Given the description of an element on the screen output the (x, y) to click on. 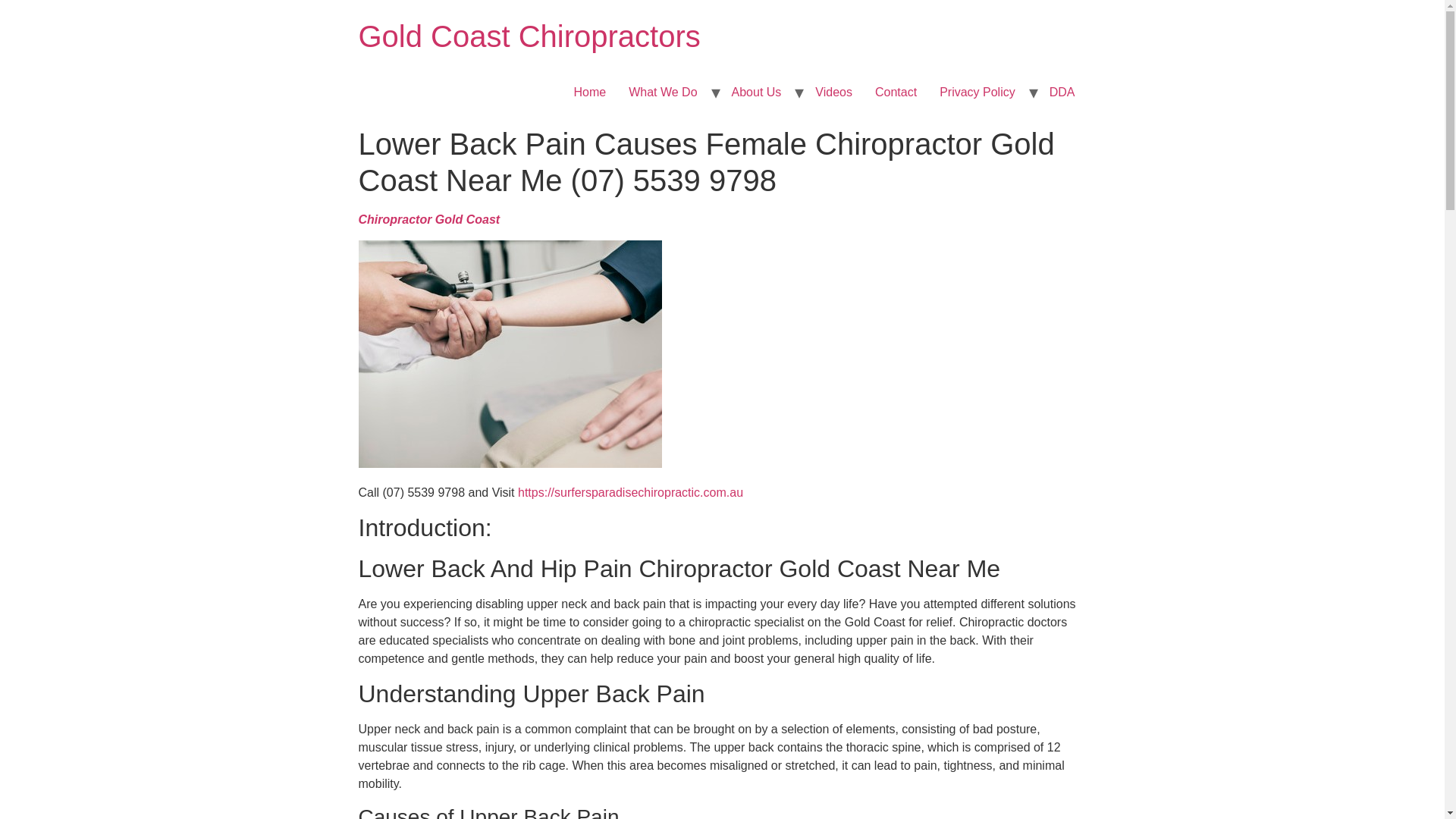
About Us (756, 91)
Chiropractor Gold Coast (428, 219)
Contact (895, 91)
Privacy Policy (977, 91)
Home (589, 91)
Videos (833, 91)
Gold Coast Chiropractors (529, 36)
What We Do (662, 91)
Home (529, 36)
DDA (1062, 91)
